Given the description of an element on the screen output the (x, y) to click on. 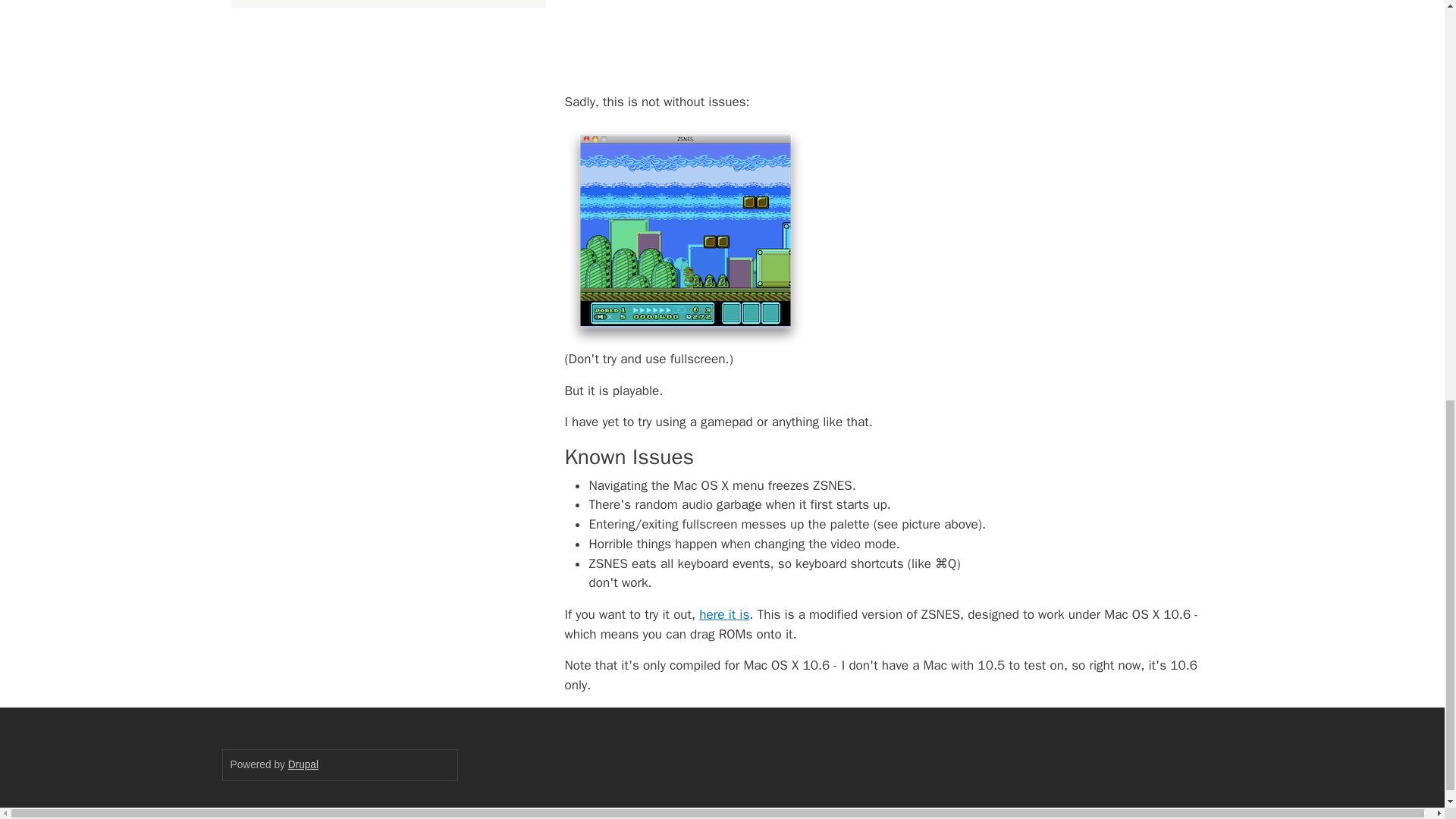
Drupal (303, 764)
here it is (723, 614)
